Given the description of an element on the screen output the (x, y) to click on. 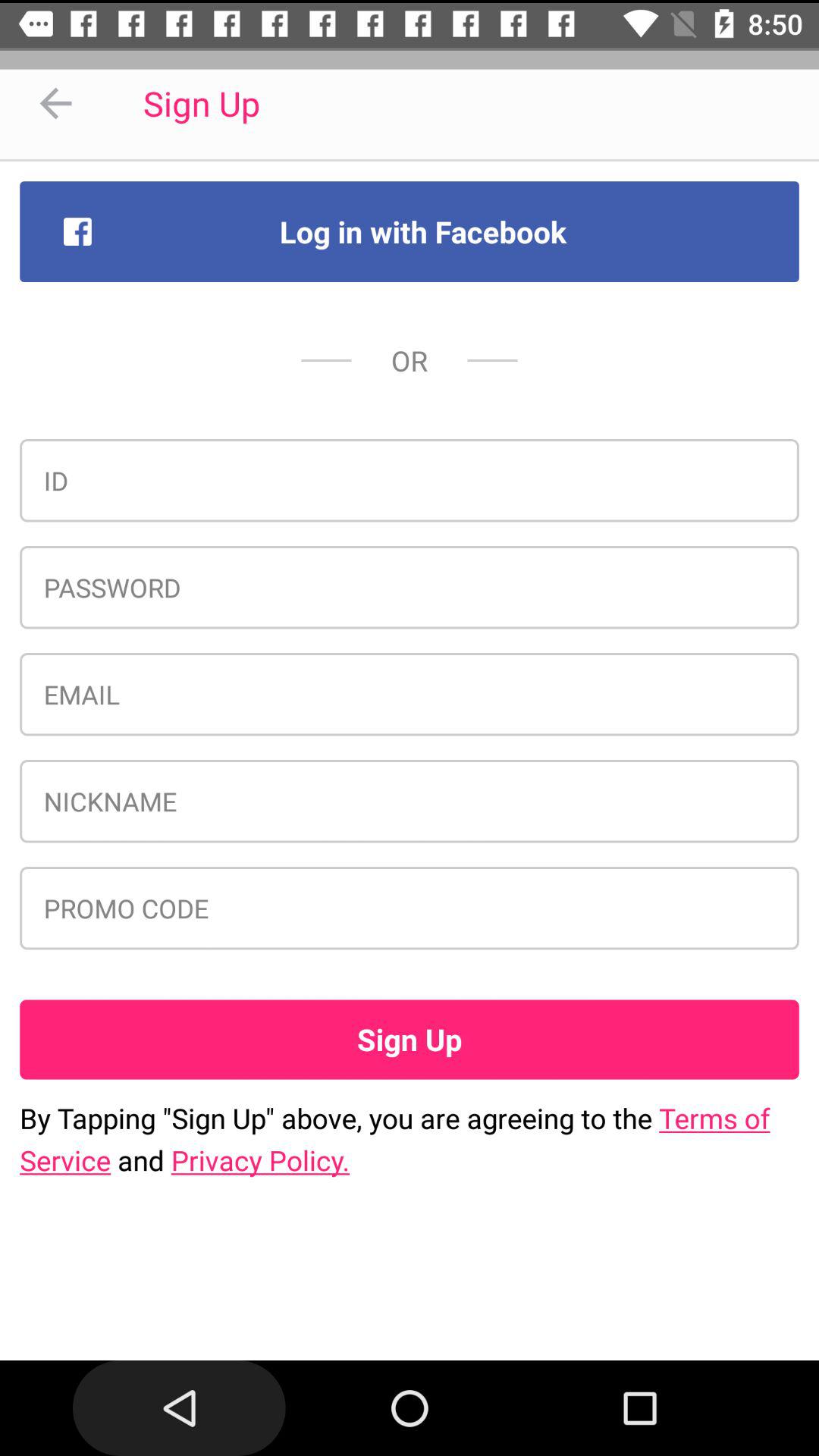
open the icon below sign up item (409, 1139)
